Given the description of an element on the screen output the (x, y) to click on. 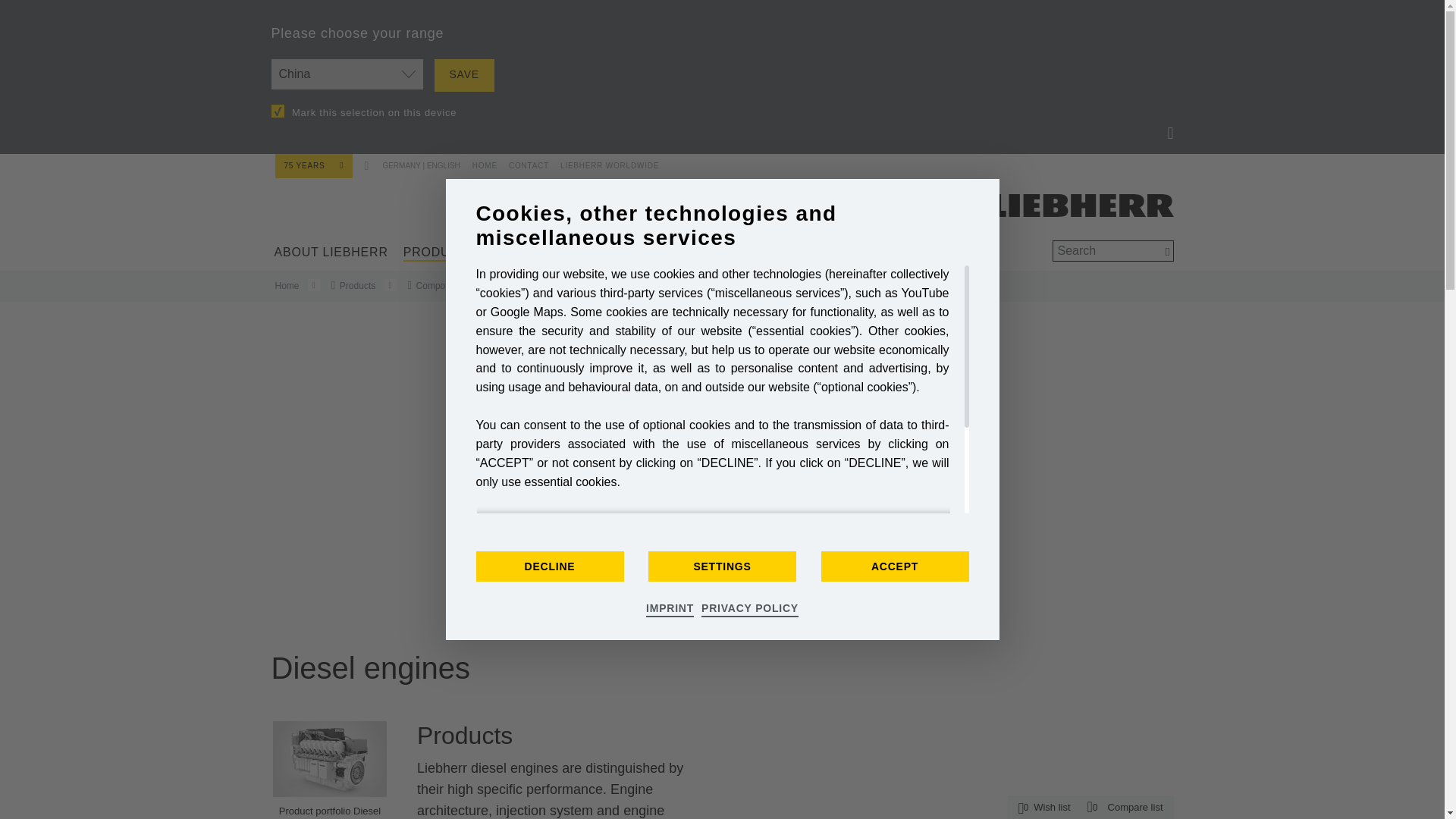
ABOUT LIEBHERR (331, 251)
LIEBHERR WORLDWIDE (603, 162)
SAVE (463, 74)
About Liebherr (331, 251)
75 YEARS (313, 165)
HOME (482, 162)
CONTACT (522, 162)
on (276, 110)
